Given the description of an element on the screen output the (x, y) to click on. 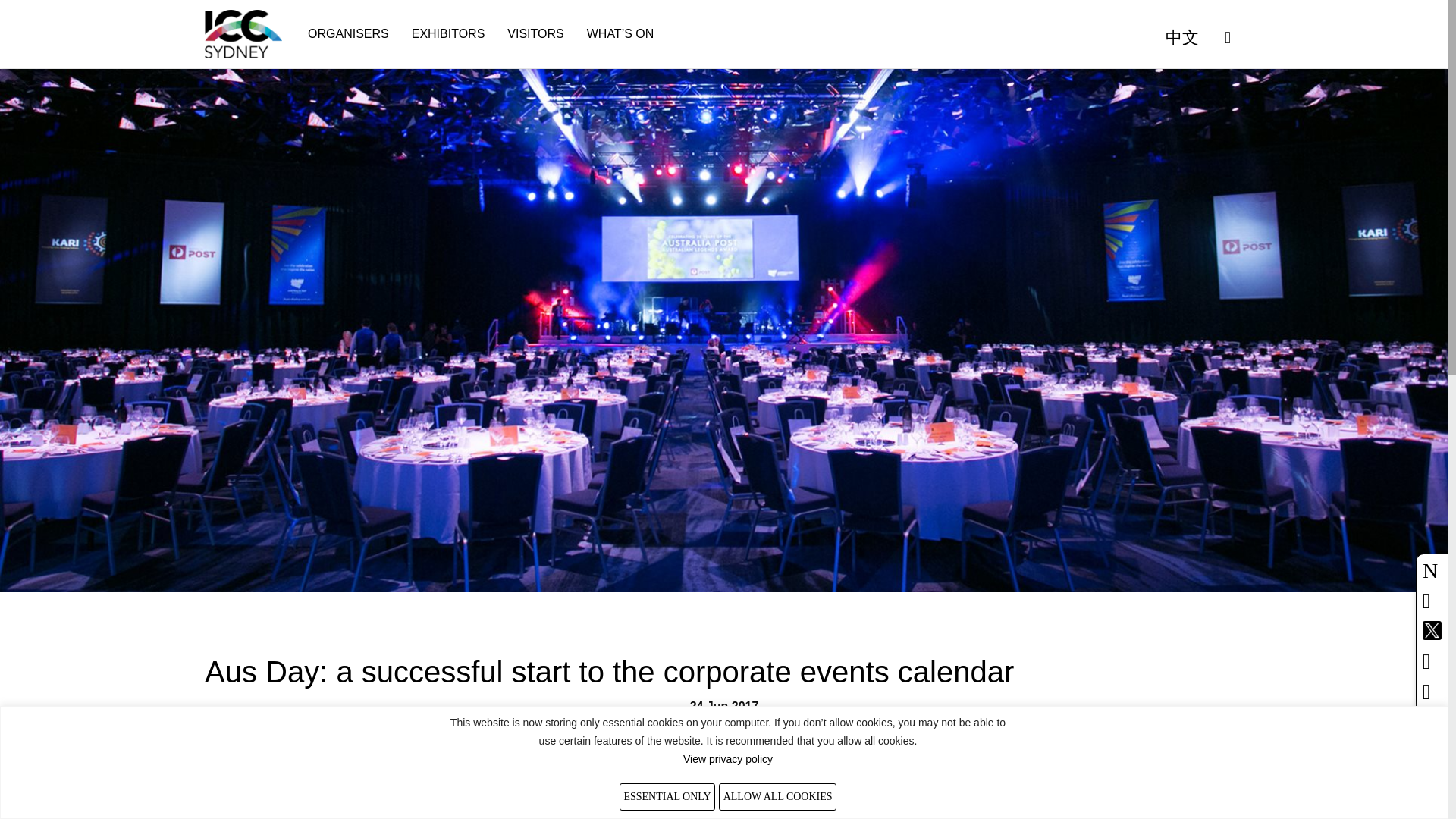
ORGANISERS (347, 33)
ALLOW ALL COOKIES (777, 796)
EXHIBITORS (448, 33)
ESSENTIAL ONLY (667, 796)
View privacy policy (727, 758)
